Given the description of an element on the screen output the (x, y) to click on. 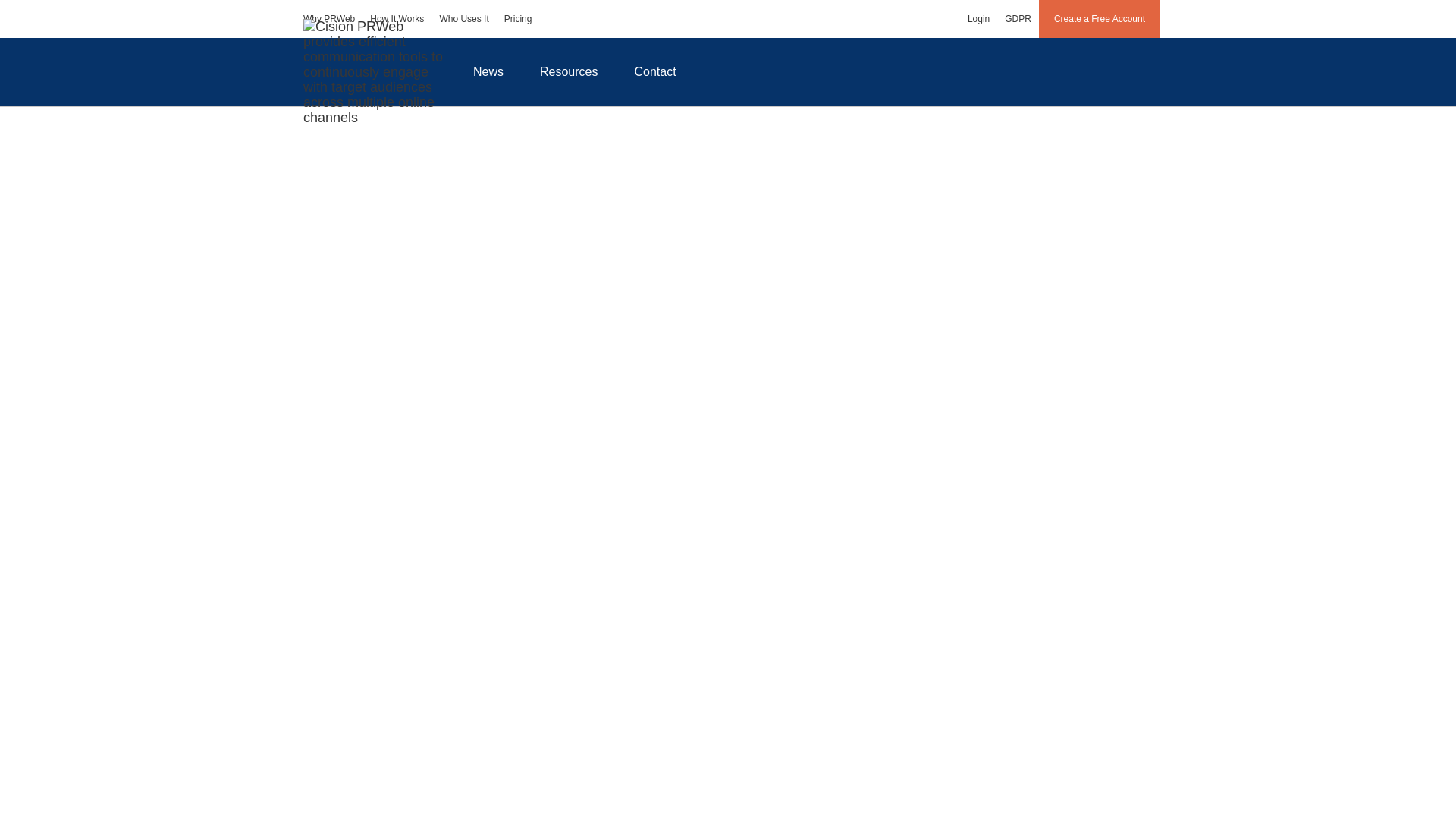
How It Works (396, 18)
News (487, 71)
Resources (568, 71)
Pricing (518, 18)
Who Uses It (463, 18)
GDPR (1018, 18)
Create a Free Account (1099, 18)
Login (978, 18)
Contact (654, 71)
Why PRWeb (328, 18)
